Given the description of an element on the screen output the (x, y) to click on. 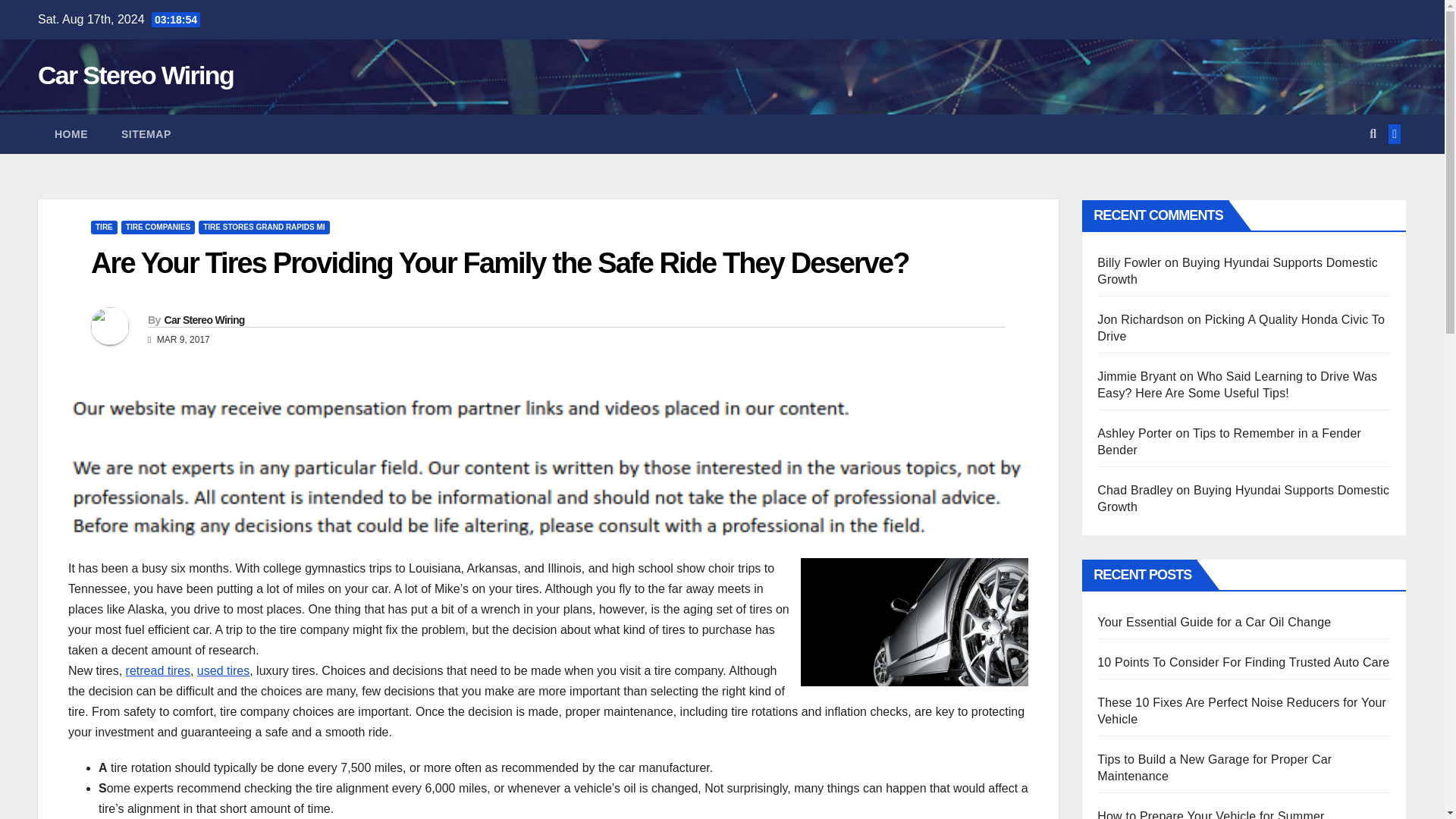
Car Stereo Wiring (203, 319)
Car Stereo Wiring (134, 74)
used tires (222, 670)
TIRE (103, 227)
Billy Fowler (1128, 262)
retread tires (157, 670)
Jon Richardson (1140, 318)
HOME (70, 133)
Chad Bradley (1134, 490)
